Given the description of an element on the screen output the (x, y) to click on. 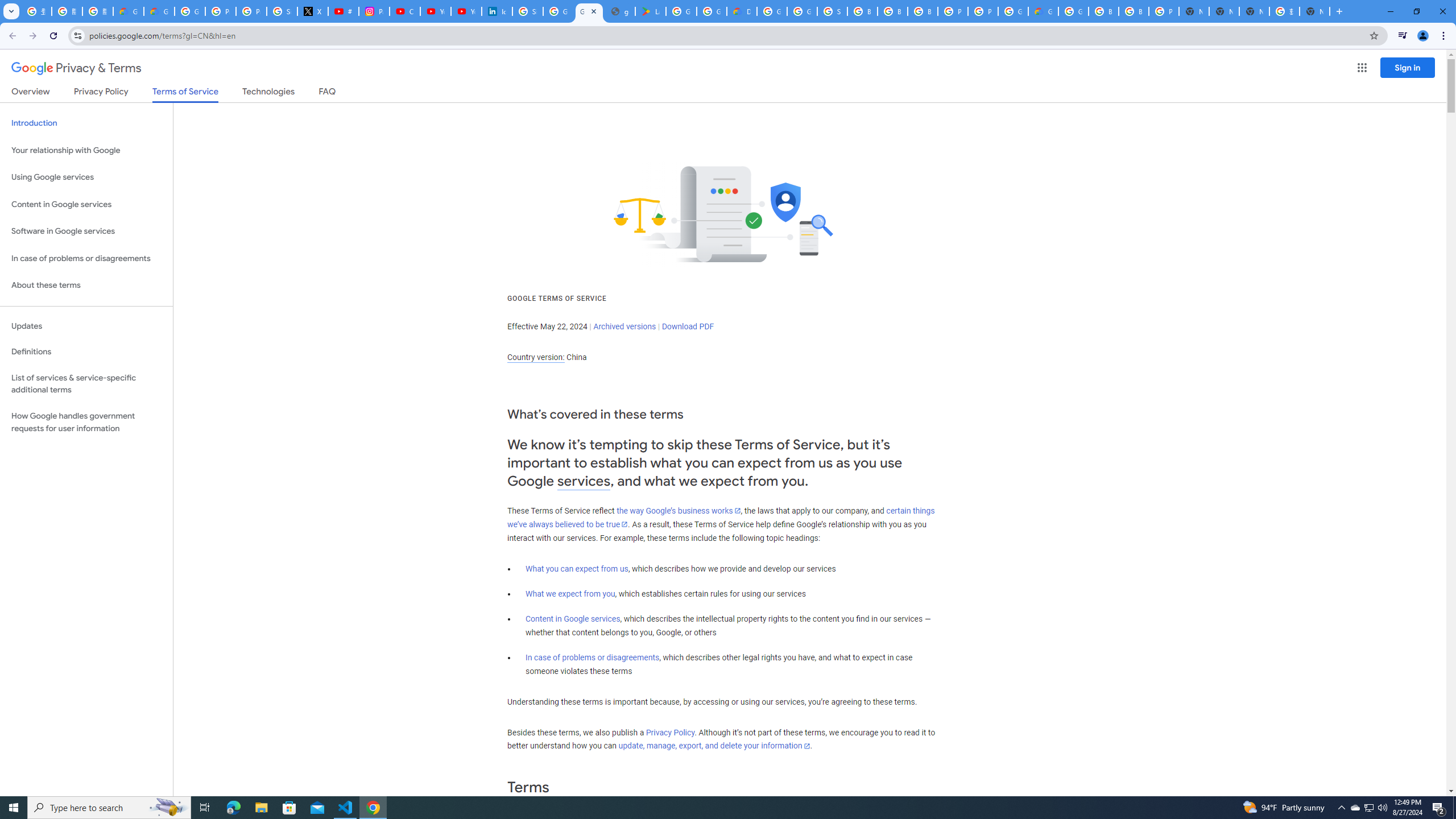
Sign in - Google Accounts (527, 11)
Browse Chrome as a guest - Computer - Google Chrome Help (1133, 11)
New Tab (1338, 11)
Browse Chrome as a guest - Computer - Google Chrome Help (892, 11)
Download PDF (687, 326)
Sign in - Google Accounts (282, 11)
Back (10, 35)
Restore (1416, 11)
Google Cloud Platform (771, 11)
You (1422, 35)
Software in Google services (86, 230)
Google Cloud Estimate Summary (1042, 11)
Address and search bar (725, 35)
Sign in - Google Accounts (832, 11)
